Given the description of an element on the screen output the (x, y) to click on. 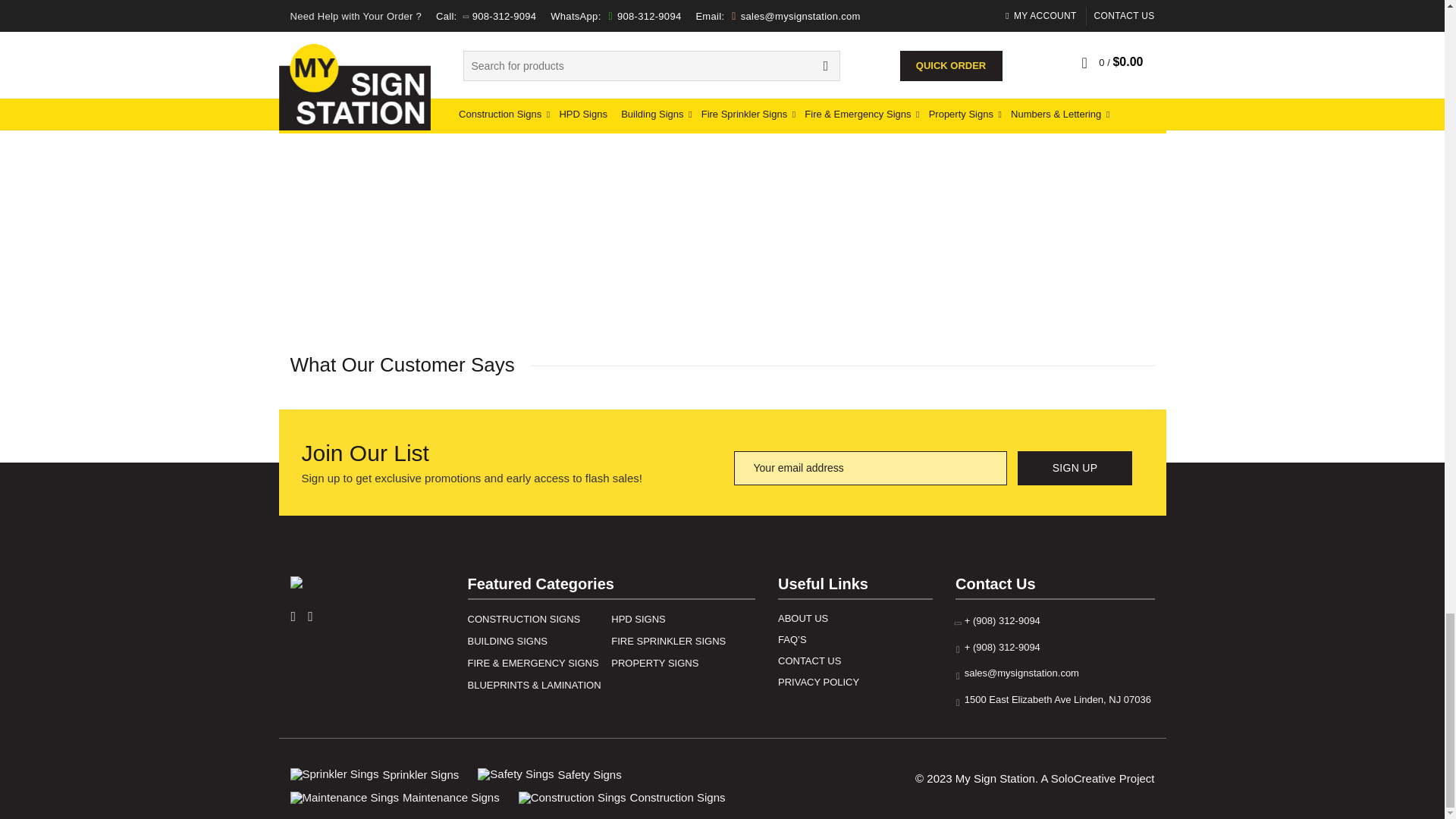
Sign up (1074, 468)
